Given the description of an element on the screen output the (x, y) to click on. 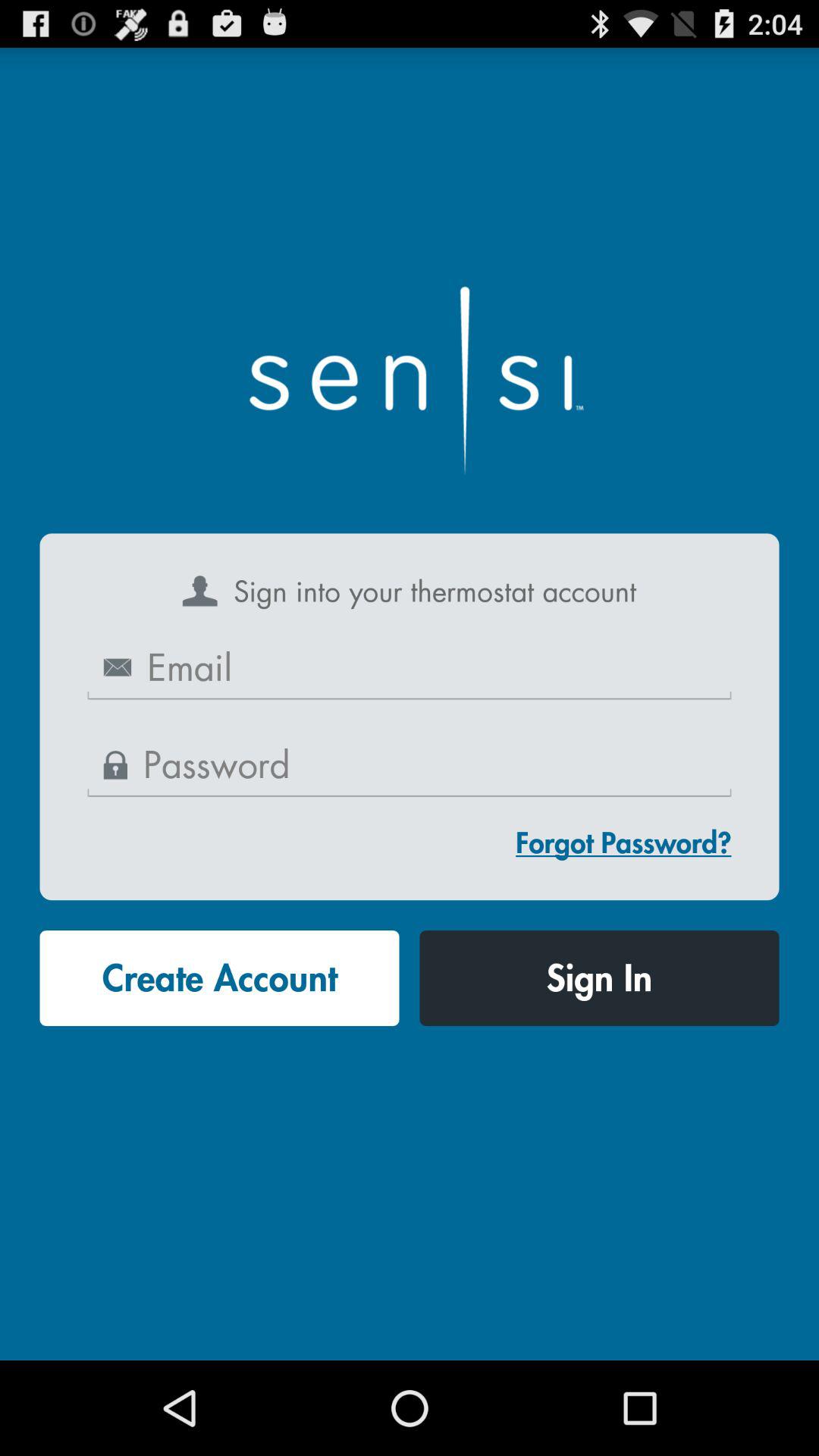
write your email here (409, 668)
